Given the description of an element on the screen output the (x, y) to click on. 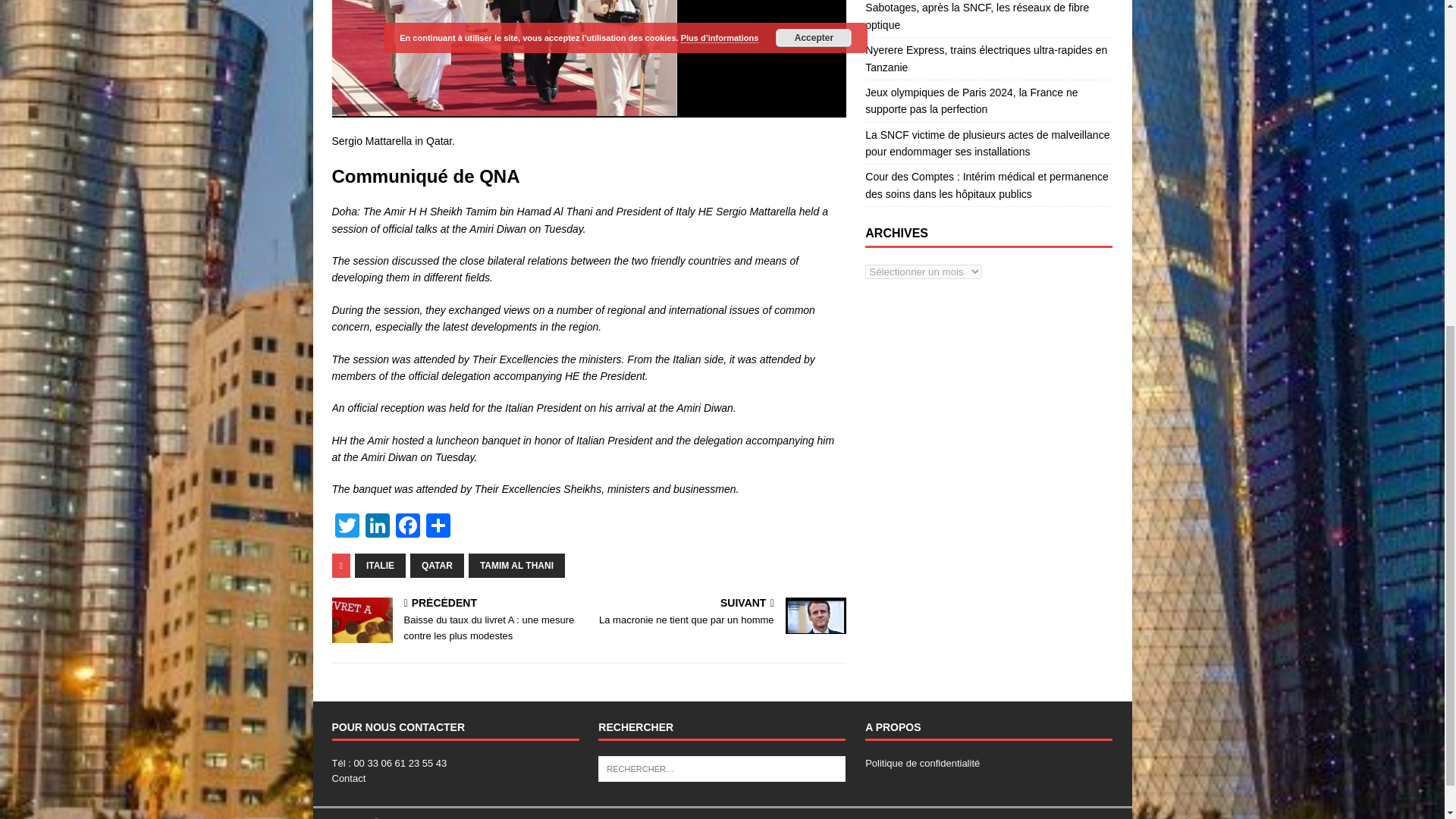
Mattarella au Qatar (588, 58)
LinkedIn (377, 527)
Twitter (346, 527)
Facebook (408, 527)
